Given the description of an element on the screen output the (x, y) to click on. 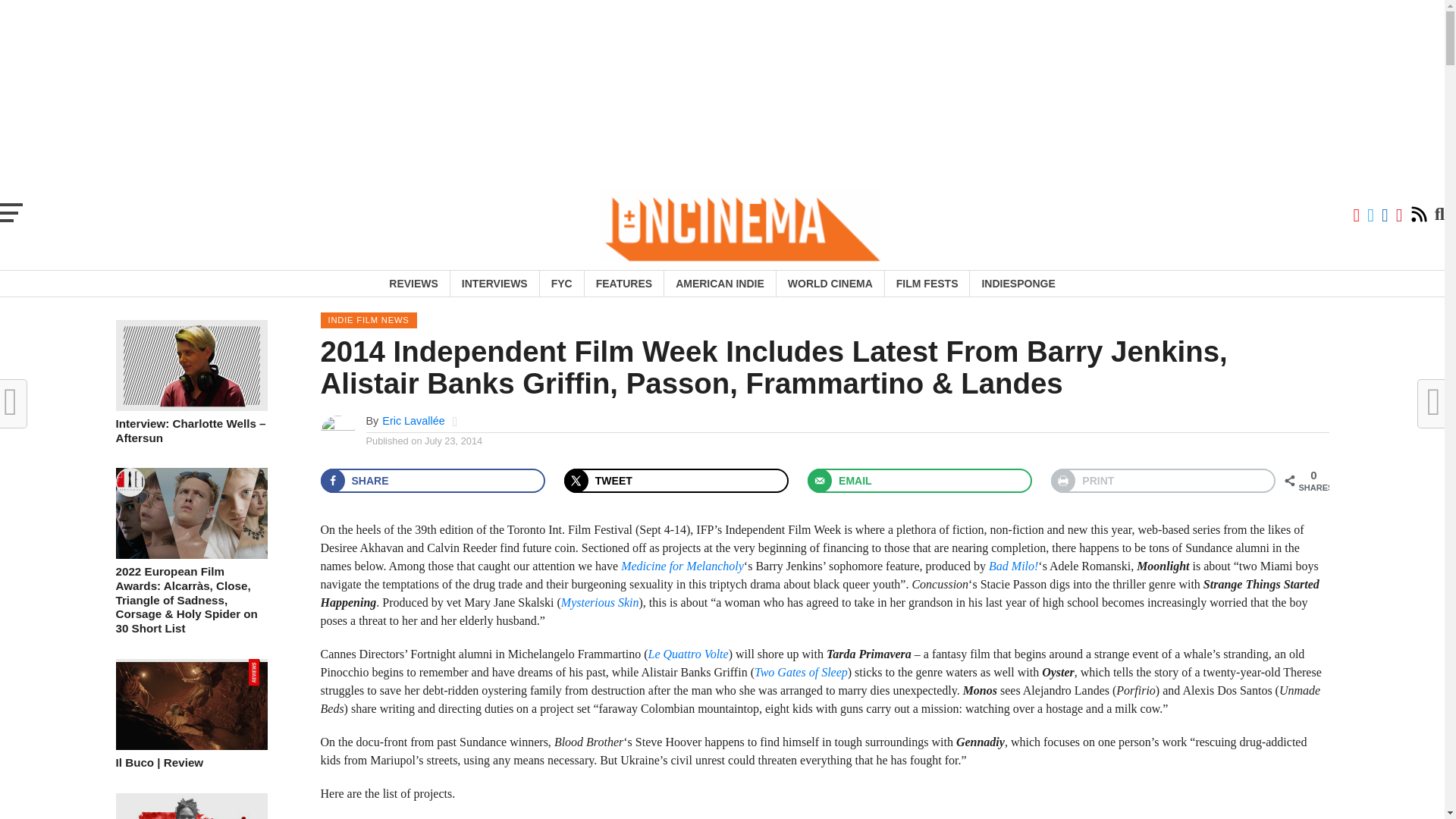
SHARE (432, 480)
REVIEWS (413, 283)
Send over email (920, 480)
FYC (560, 283)
WORLD CINEMA (829, 283)
Share on Facebook (432, 480)
INDIESPONGE (1017, 283)
INTERVIEWS (493, 283)
Share on X (676, 480)
Print this webpage (1163, 480)
FEATURES (623, 283)
AMERICAN INDIE (719, 283)
FILM FESTS (926, 283)
